Given the description of an element on the screen output the (x, y) to click on. 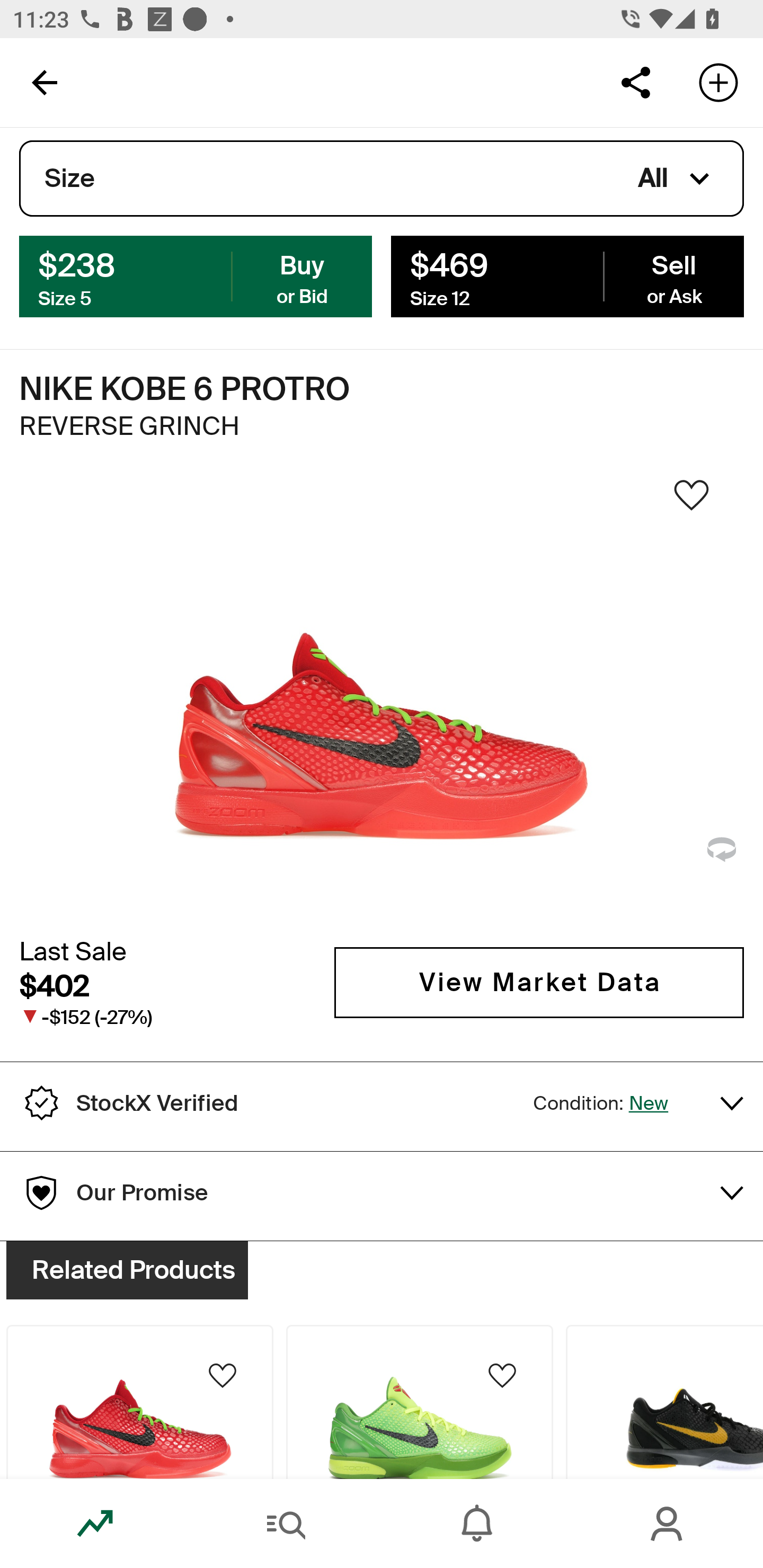
Share (635, 81)
Add (718, 81)
Size All (381, 178)
$238 Buy Size 5 or Bid (195, 275)
$469 Sell Size 12 or Ask (566, 275)
Sneaker Image (381, 699)
View Market Data (538, 982)
Product Image (139, 1401)
Product Image (419, 1401)
Product Image (664, 1401)
Search (285, 1523)
Inbox (476, 1523)
Account (667, 1523)
